Given the description of an element on the screen output the (x, y) to click on. 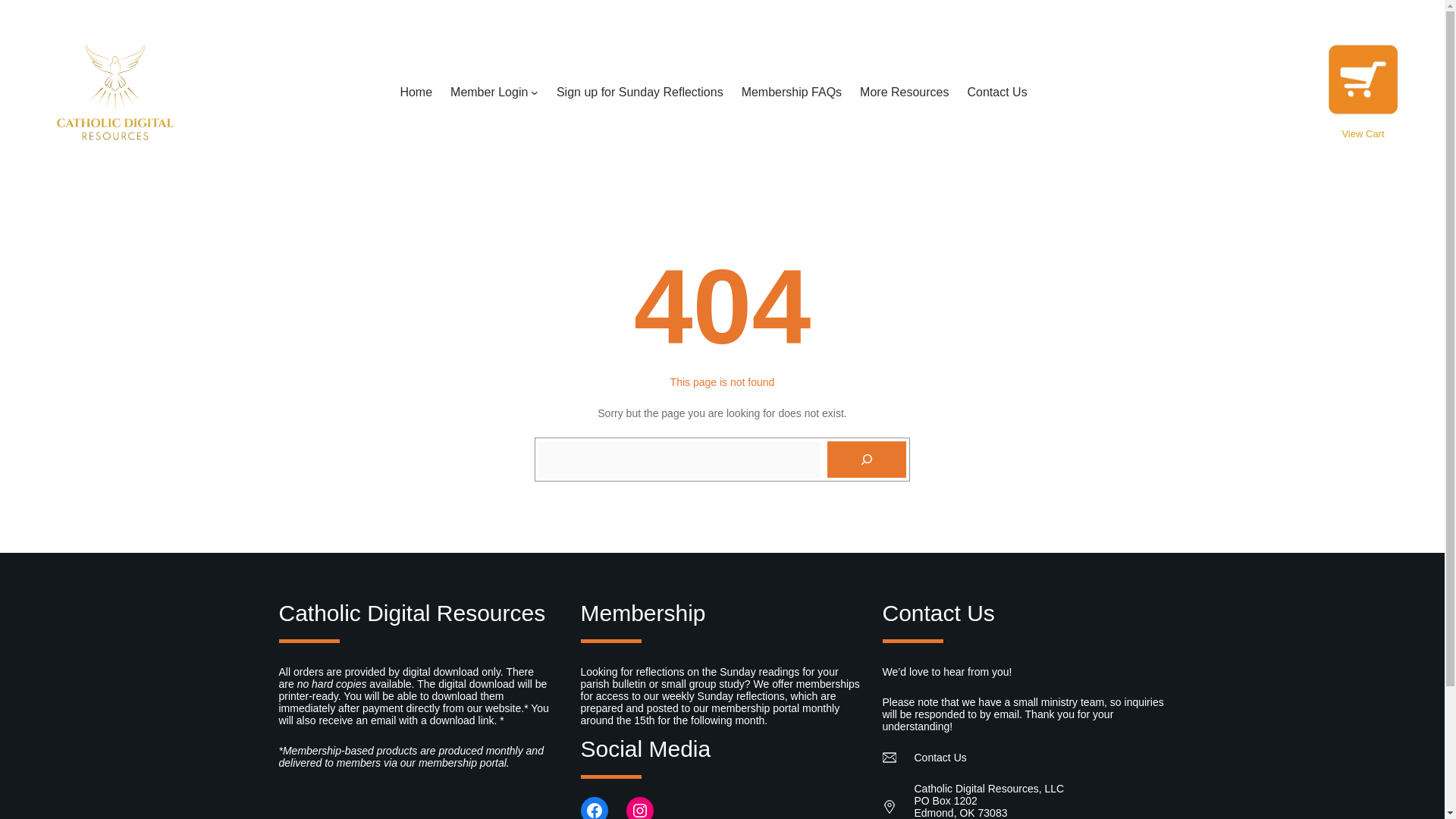
Member Login (488, 92)
Contact Us (996, 92)
Sign up for Sunday Reflections (639, 92)
Instagram (639, 807)
Contact Us (940, 757)
More Resources (904, 92)
Facebook (594, 807)
Membership FAQs (791, 92)
View Cart (1362, 133)
Home (415, 92)
